Given the description of an element on the screen output the (x, y) to click on. 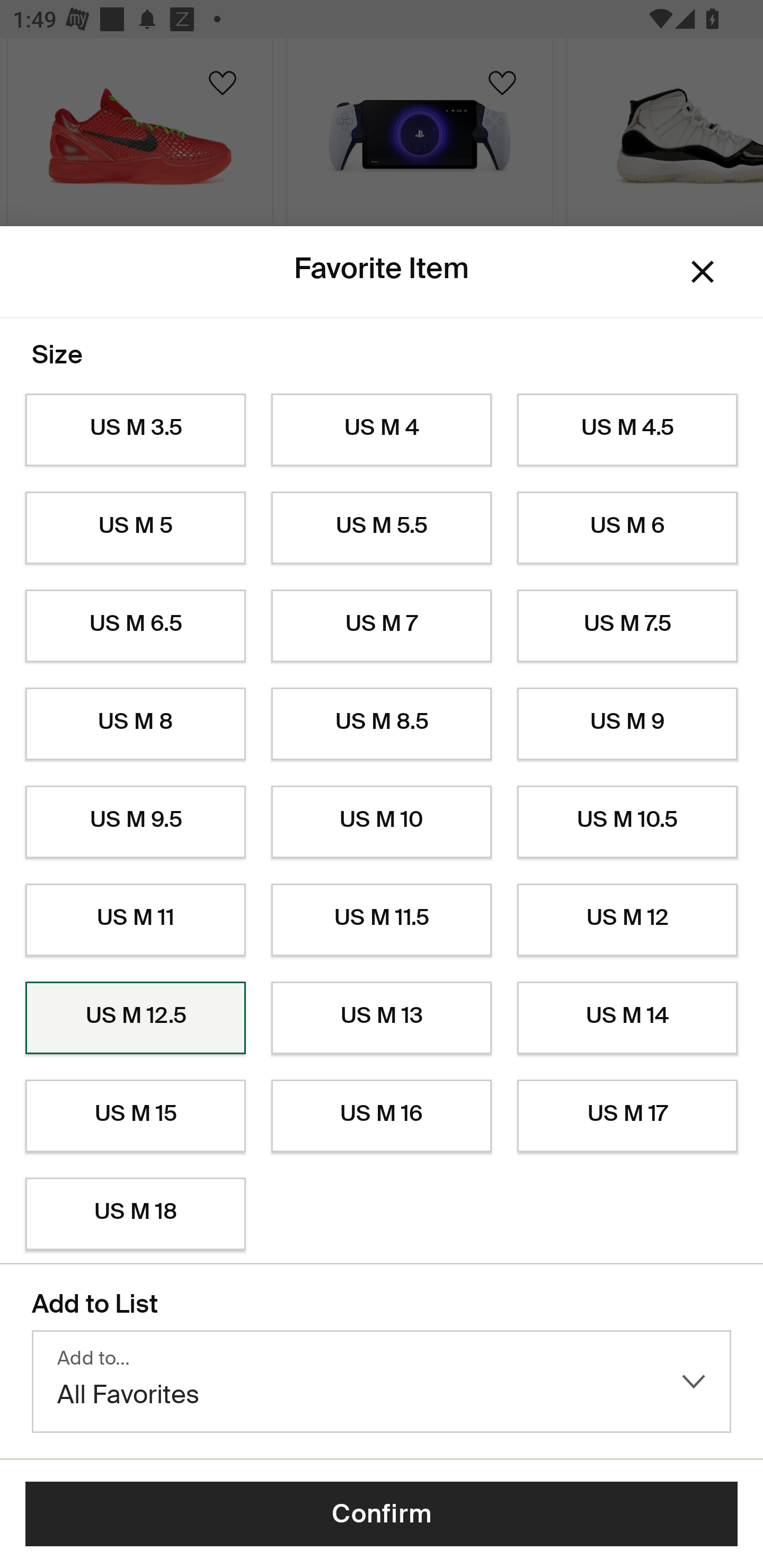
Dismiss (702, 271)
US M 3.5 (135, 430)
US M 4 (381, 430)
US M 4.5 (627, 430)
US M 5 (135, 527)
US M 5.5 (381, 527)
US M 6 (627, 527)
US M 6.5 (135, 626)
US M 7 (381, 626)
US M 7.5 (627, 626)
US M 8 (135, 724)
US M 8.5 (381, 724)
US M 9 (627, 724)
US M 9.5 (135, 822)
US M 10 (381, 822)
US M 10.5 (627, 822)
US M 11 (135, 919)
US M 11.5 (381, 919)
US M 12 (627, 919)
US M 12.5 (135, 1018)
US M 13 (381, 1018)
US M 14 (627, 1018)
US M 15 (135, 1116)
US M 16 (381, 1116)
US M 17 (627, 1116)
US M 18 (135, 1214)
Add to… All Favorites (381, 1381)
Confirm (381, 1513)
